Given the description of an element on the screen output the (x, y) to click on. 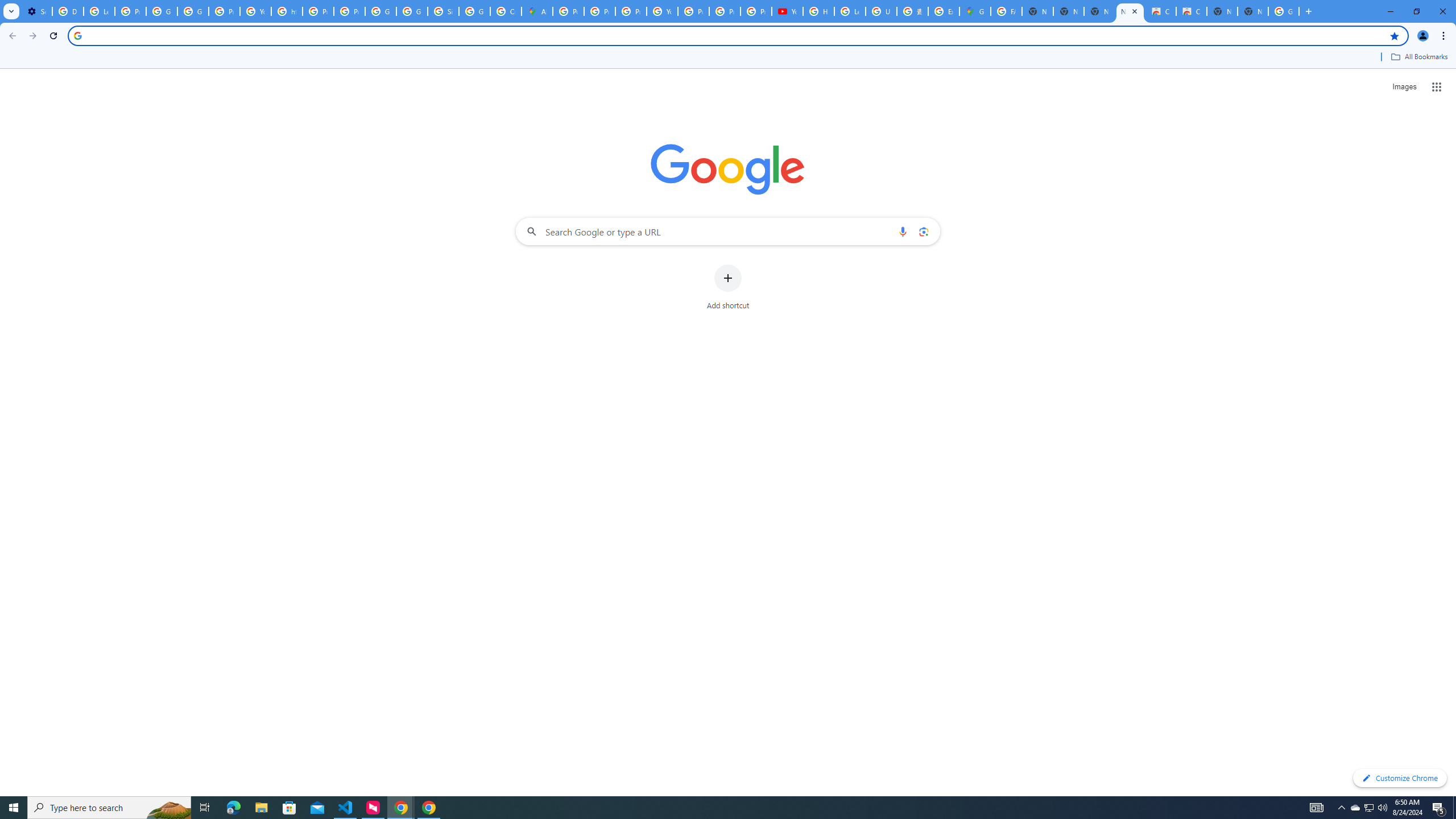
https://scholar.google.com/ (286, 11)
New Tab (1252, 11)
Google Images (1283, 11)
Customize Chrome (1399, 778)
Add shortcut (727, 287)
